Given the description of an element on the screen output the (x, y) to click on. 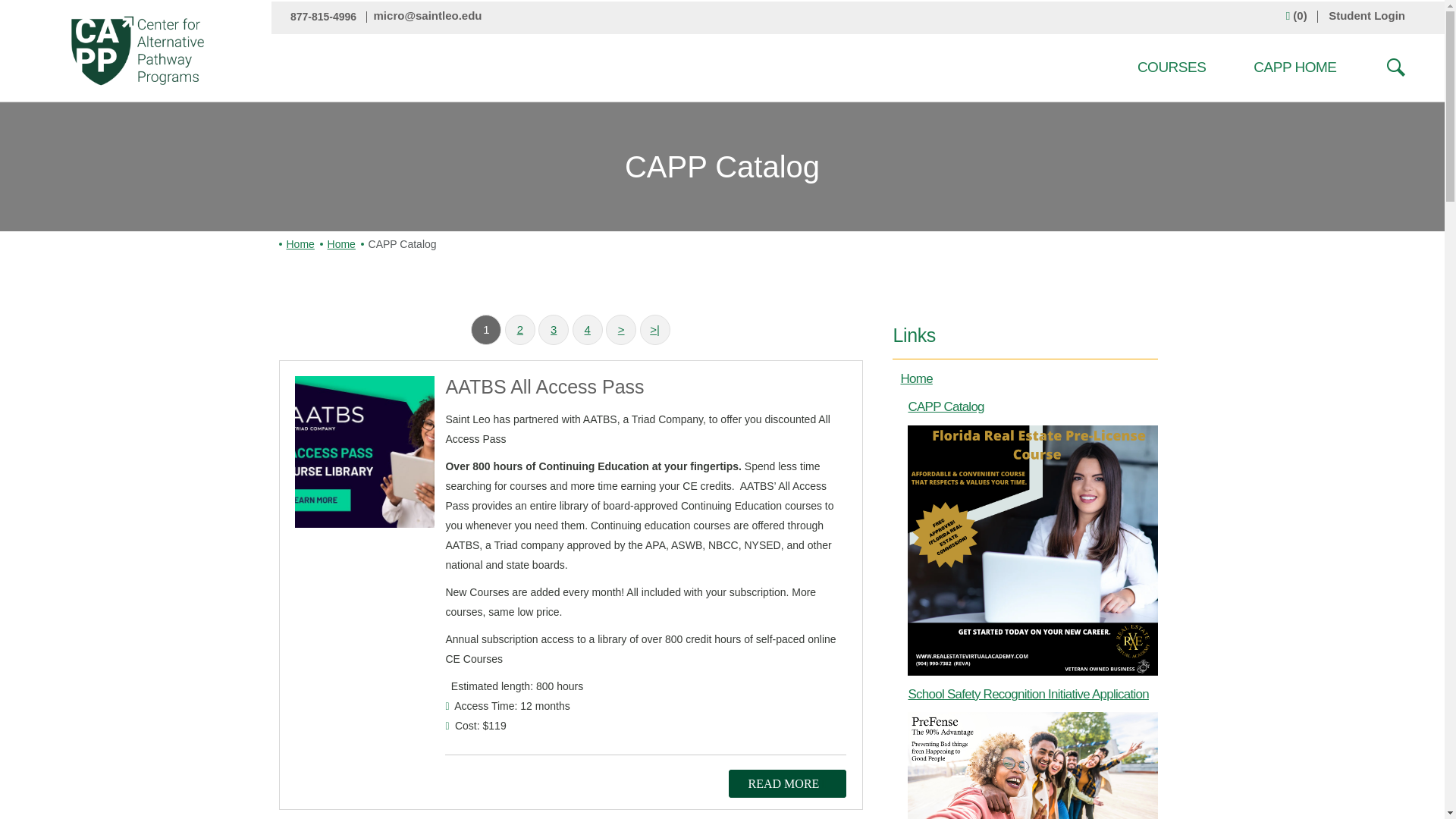
CAPP (137, 50)
COURSES (1171, 67)
877-815-4996 (325, 16)
Home (341, 244)
Student Login (1366, 15)
Home (300, 244)
CAPP HOME (1294, 67)
Click to toggle Search (1396, 69)
